Given the description of an element on the screen output the (x, y) to click on. 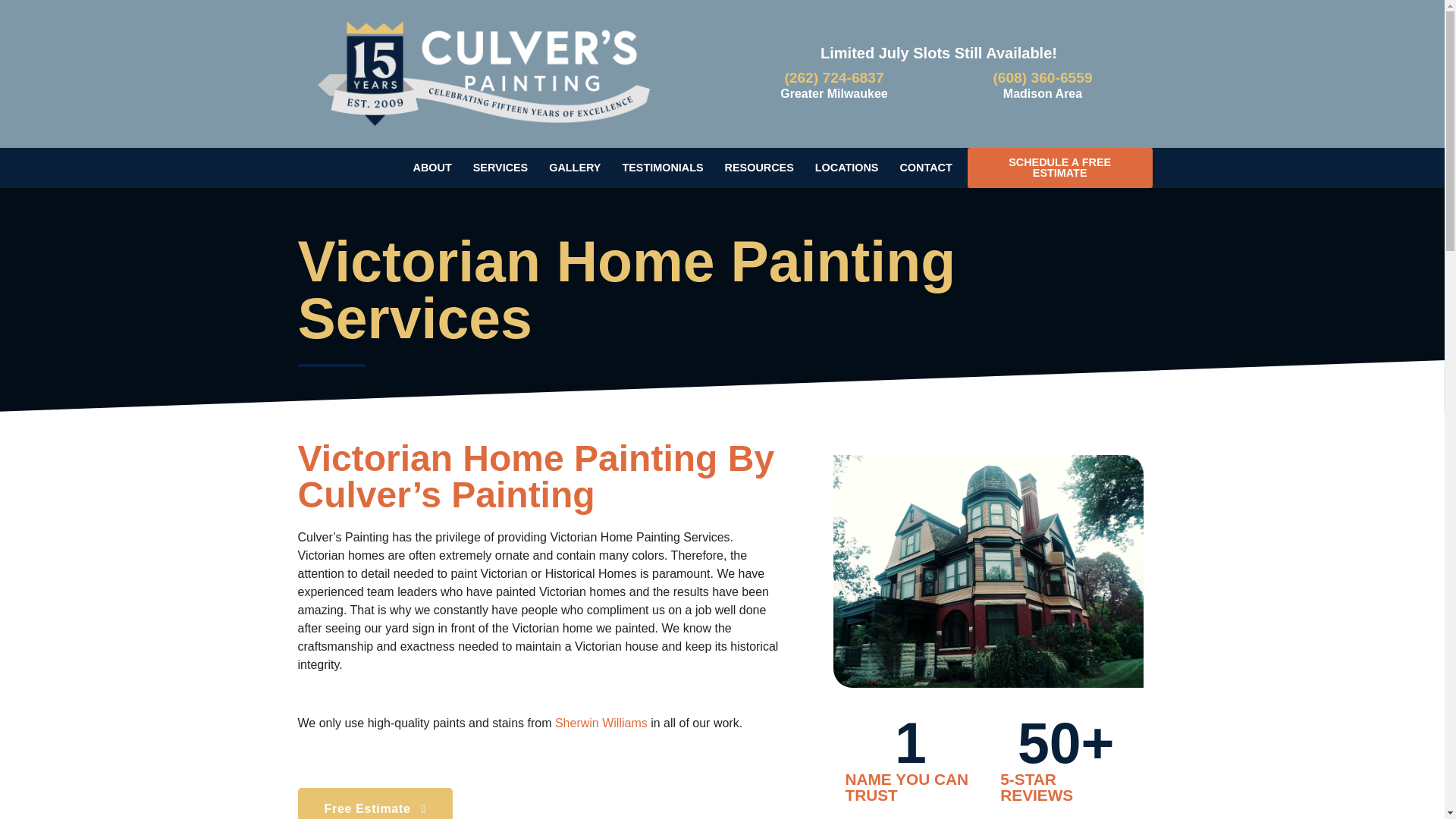
CONTACT (925, 167)
TESTIMONIALS (662, 167)
RESOURCES (759, 167)
ABOUT (432, 167)
SERVICES (500, 167)
LOCATIONS (847, 167)
GALLERY (573, 167)
